Given the description of an element on the screen output the (x, y) to click on. 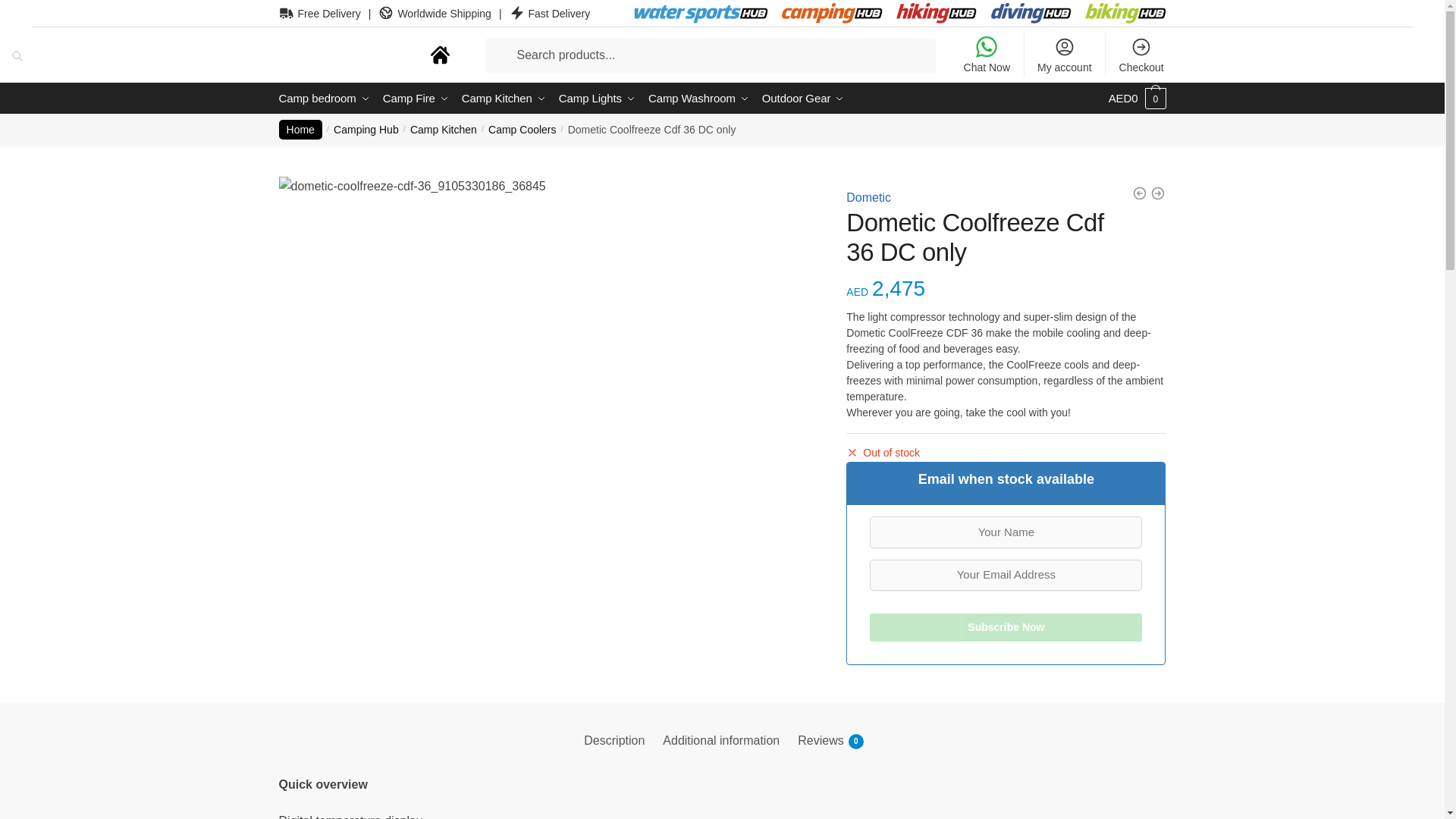
View your shopping cart (1137, 98)
Camp bedroom (327, 98)
Camp Fire (414, 98)
Subscribe Now (1005, 627)
Search (24, 10)
My account (1063, 54)
Checkout (1141, 54)
Camp Kitchen (504, 98)
Chat Now (986, 54)
